Given the description of an element on the screen output the (x, y) to click on. 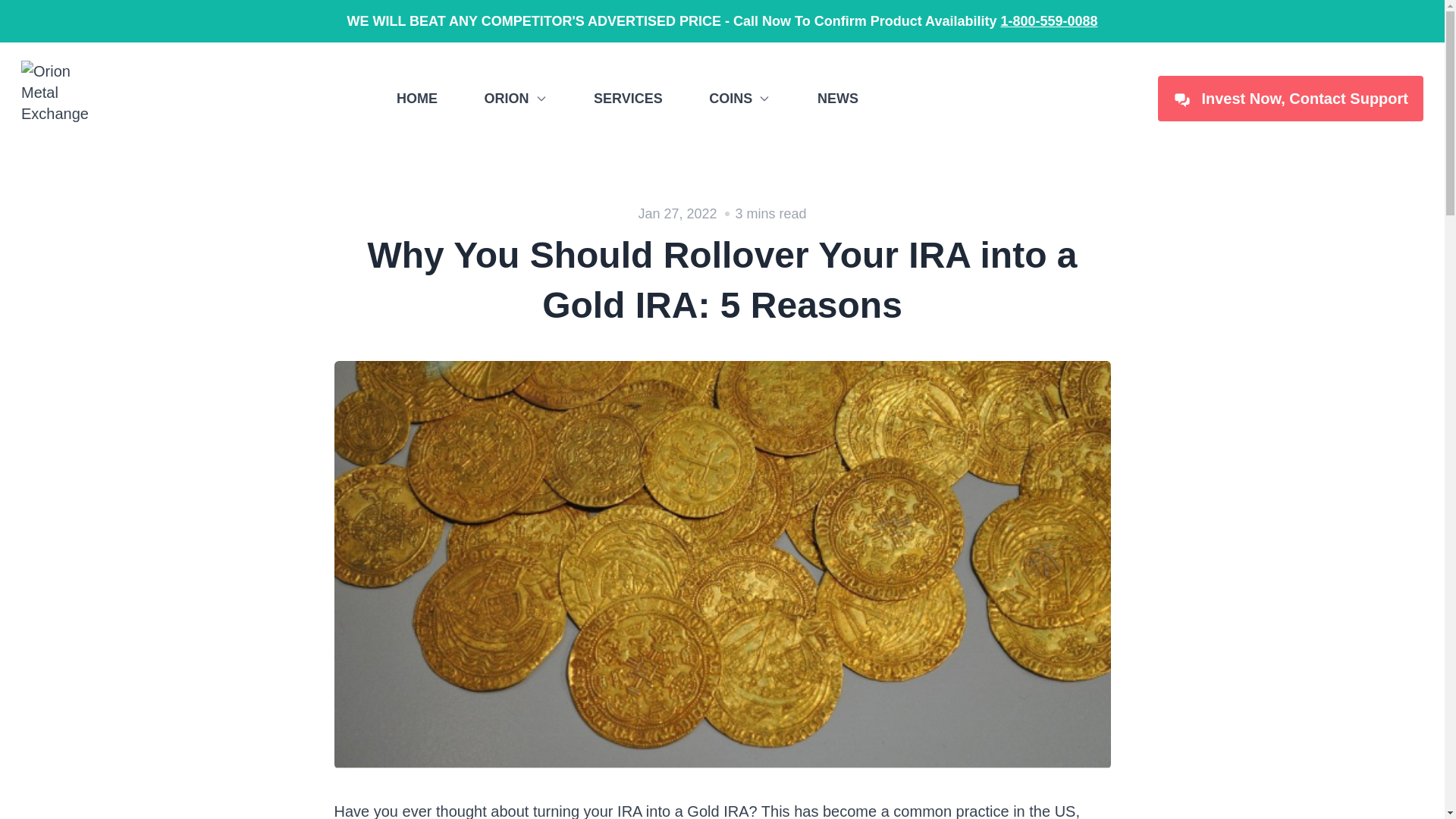
1-800-559-0088 (1048, 20)
SERVICES (628, 97)
COINS (739, 97)
Invest Now, Contact Support (1290, 98)
NEWS (837, 97)
ORION (515, 97)
HOME (417, 97)
